Given the description of an element on the screen output the (x, y) to click on. 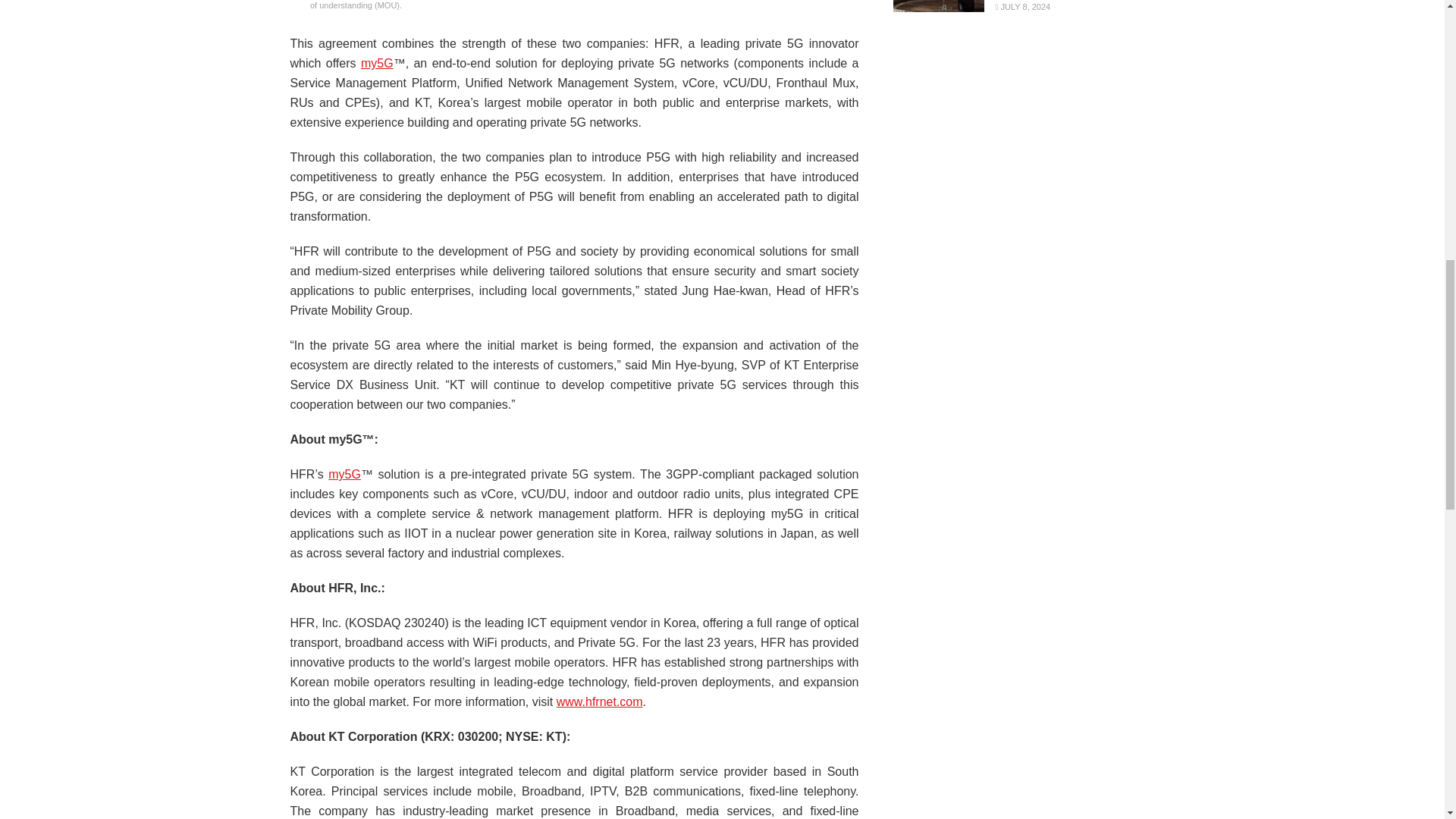
www.hfrnet.com (599, 701)
my5G (377, 62)
my5G (345, 473)
